Given the description of an element on the screen output the (x, y) to click on. 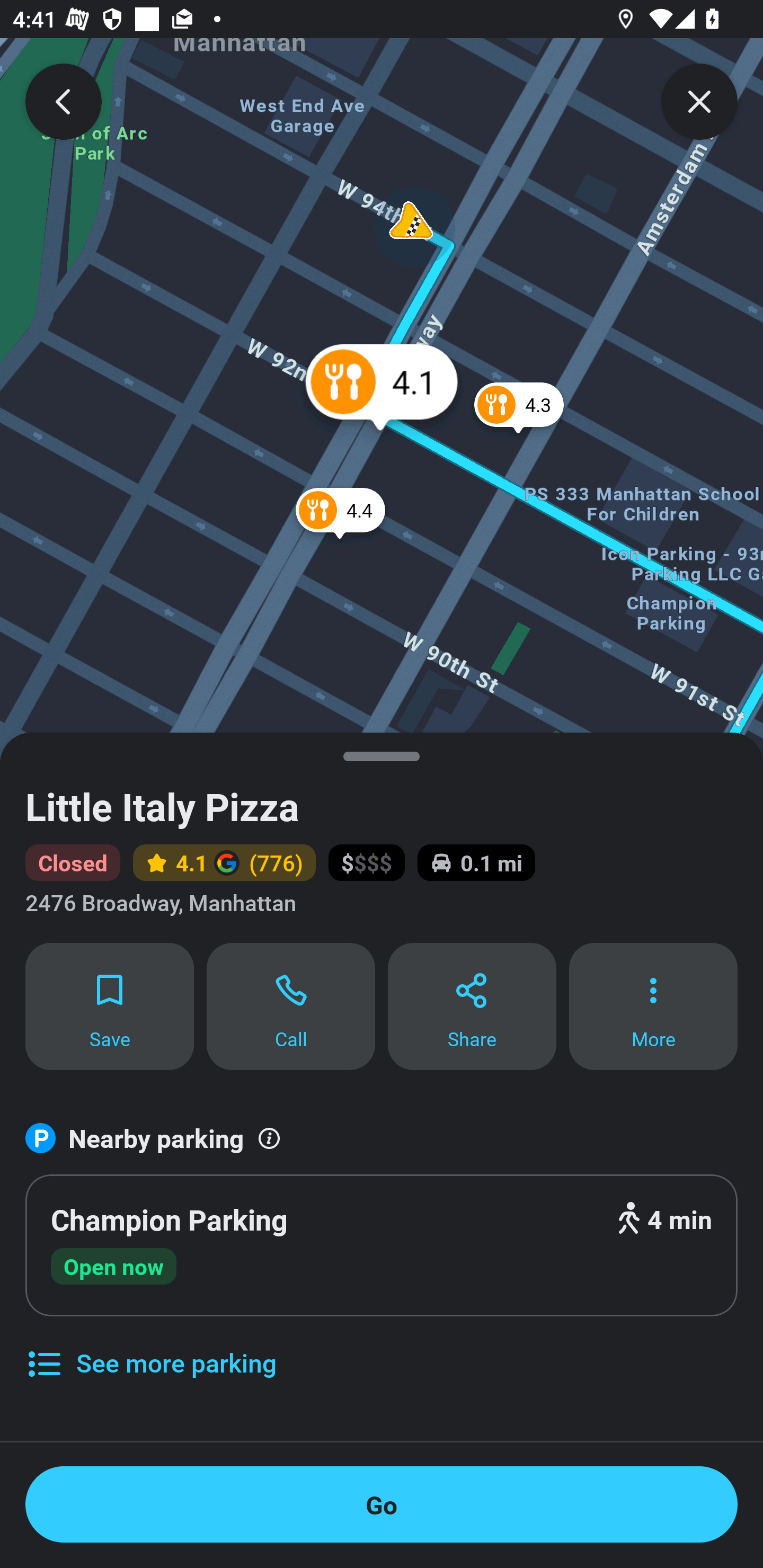
Save (109, 1005)
Call (290, 1005)
Share (471, 1005)
More (653, 1005)
Champion Parking 4 min Open now (381, 1245)
See more parking (150, 1348)
Go (381, 1504)
